Given the description of an element on the screen output the (x, y) to click on. 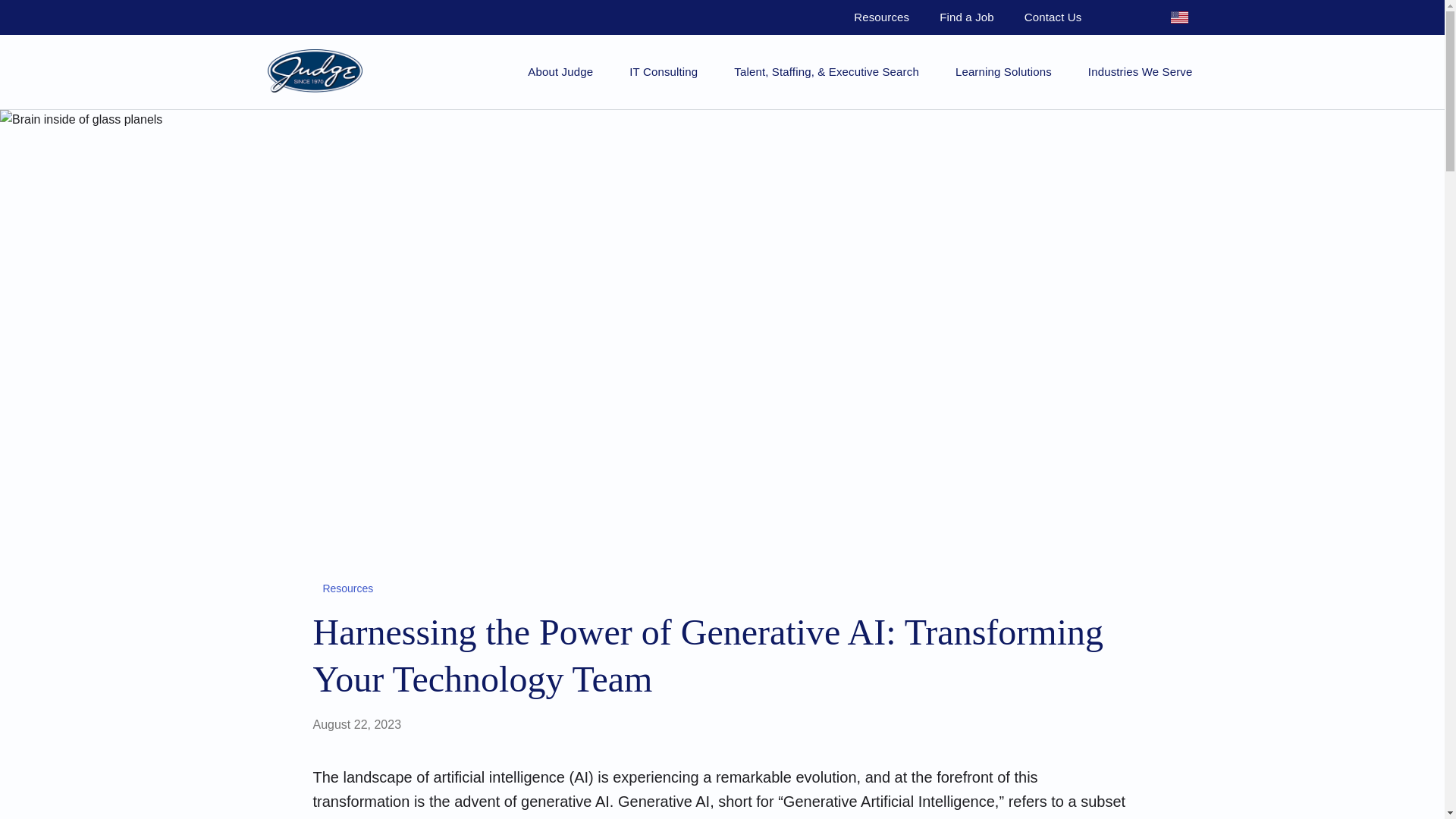
Resources (343, 588)
IT Consulting (663, 71)
Resources (881, 17)
Industries We Serve (1139, 71)
SEARCH (1124, 16)
Contact Us (1053, 17)
Learning Solutions (1003, 71)
Judge Group (313, 70)
About Judge (559, 71)
Find a Job (966, 17)
